Given the description of an element on the screen output the (x, y) to click on. 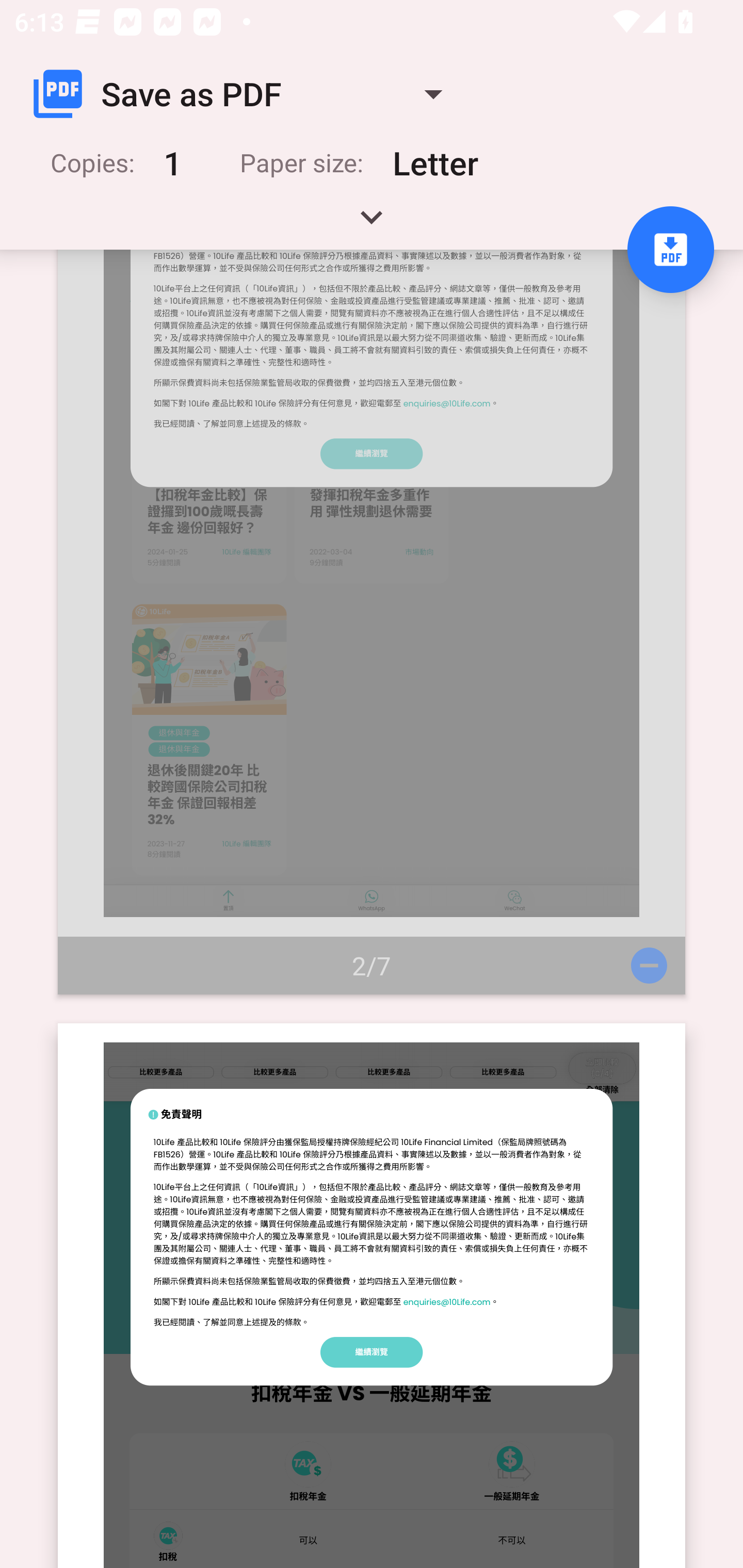
Save as PDF (245, 93)
Expand handle (371, 224)
Save to PDF (670, 249)
Page 3 of 7 (371, 1295)
